Given the description of an element on the screen output the (x, y) to click on. 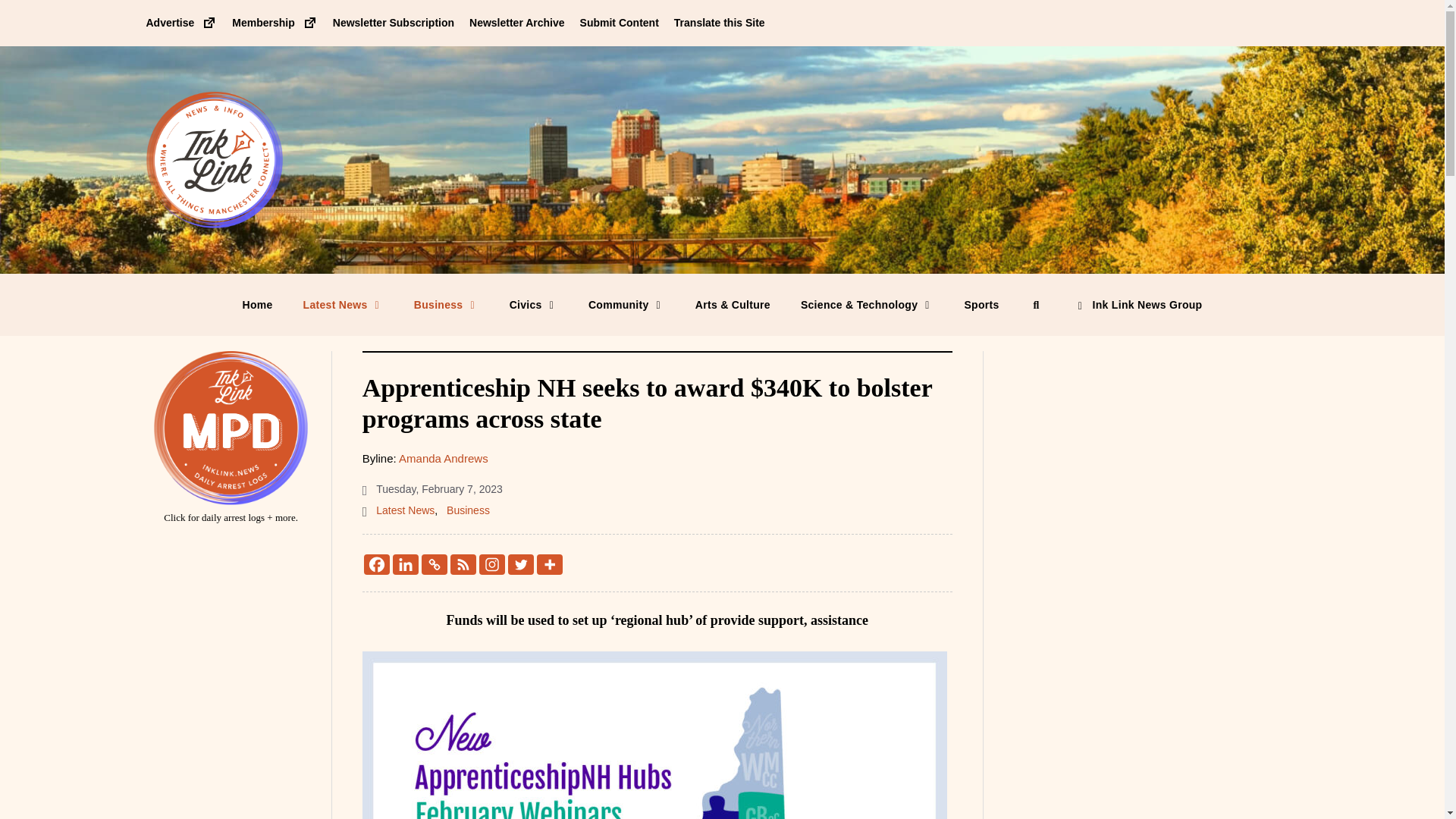
Copy Link (434, 564)
Instagram (492, 564)
Linkedin (406, 564)
Newsletter Subscription (393, 22)
Facebook (377, 564)
Membership (274, 22)
Sports (981, 304)
Submit Content (619, 22)
Newsletter Archive (516, 22)
Latest News (343, 304)
Community (626, 304)
Ink Link News Group (1137, 304)
Latest News (404, 510)
Business (446, 304)
Amanda Andrews (442, 458)
